Given the description of an element on the screen output the (x, y) to click on. 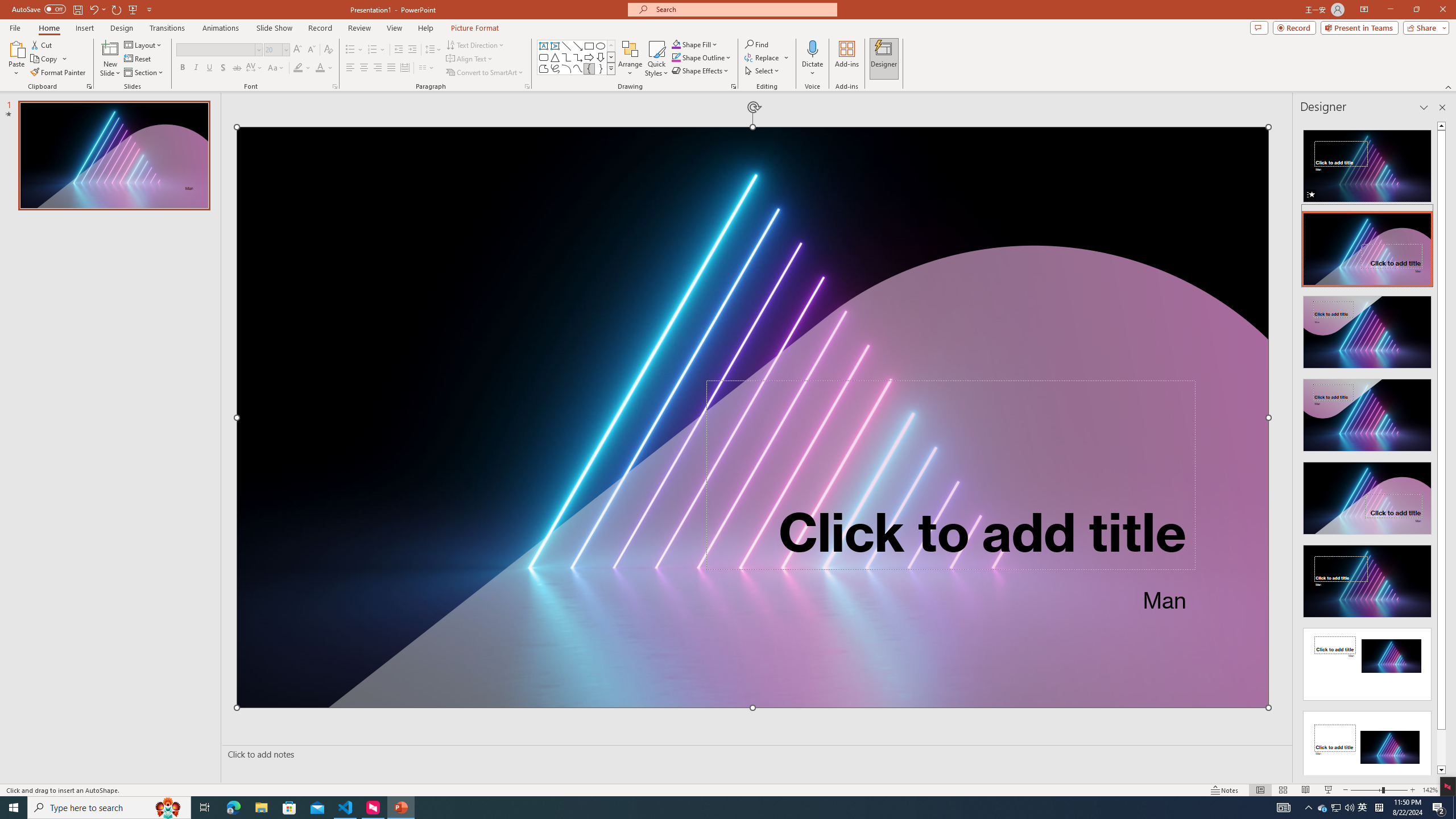
Shape Fill Orange, Accent 2 (675, 44)
